Given the description of an element on the screen output the (x, y) to click on. 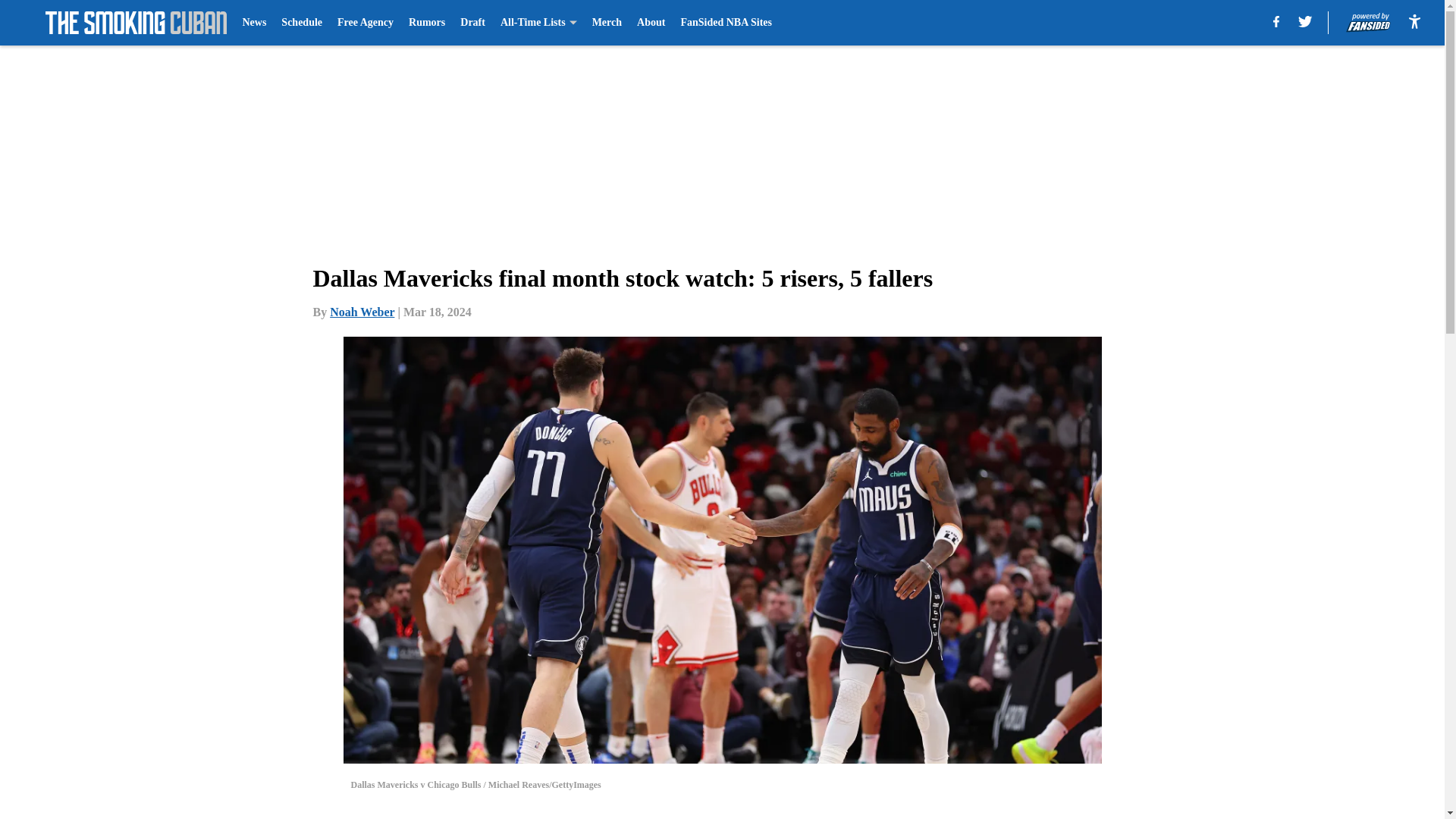
All-Time Lists (538, 22)
Draft (472, 22)
Noah Weber (362, 311)
About (651, 22)
Schedule (301, 22)
FanSided NBA Sites (725, 22)
News (253, 22)
Merch (606, 22)
Free Agency (365, 22)
